Given the description of an element on the screen output the (x, y) to click on. 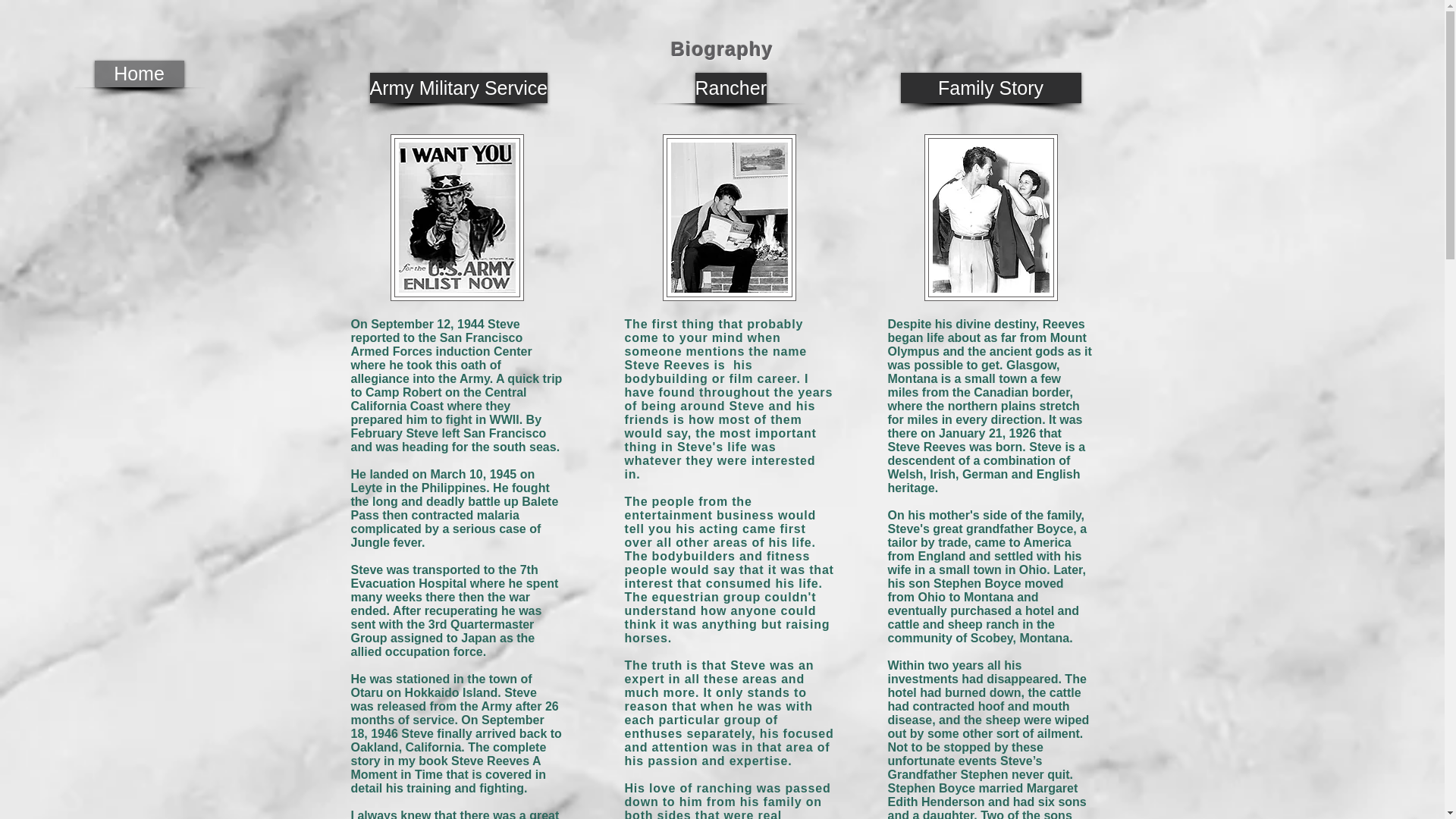
Rancher (730, 87)
Army Military Service (458, 87)
Family Story (991, 87)
Home (138, 73)
